Given the description of an element on the screen output the (x, y) to click on. 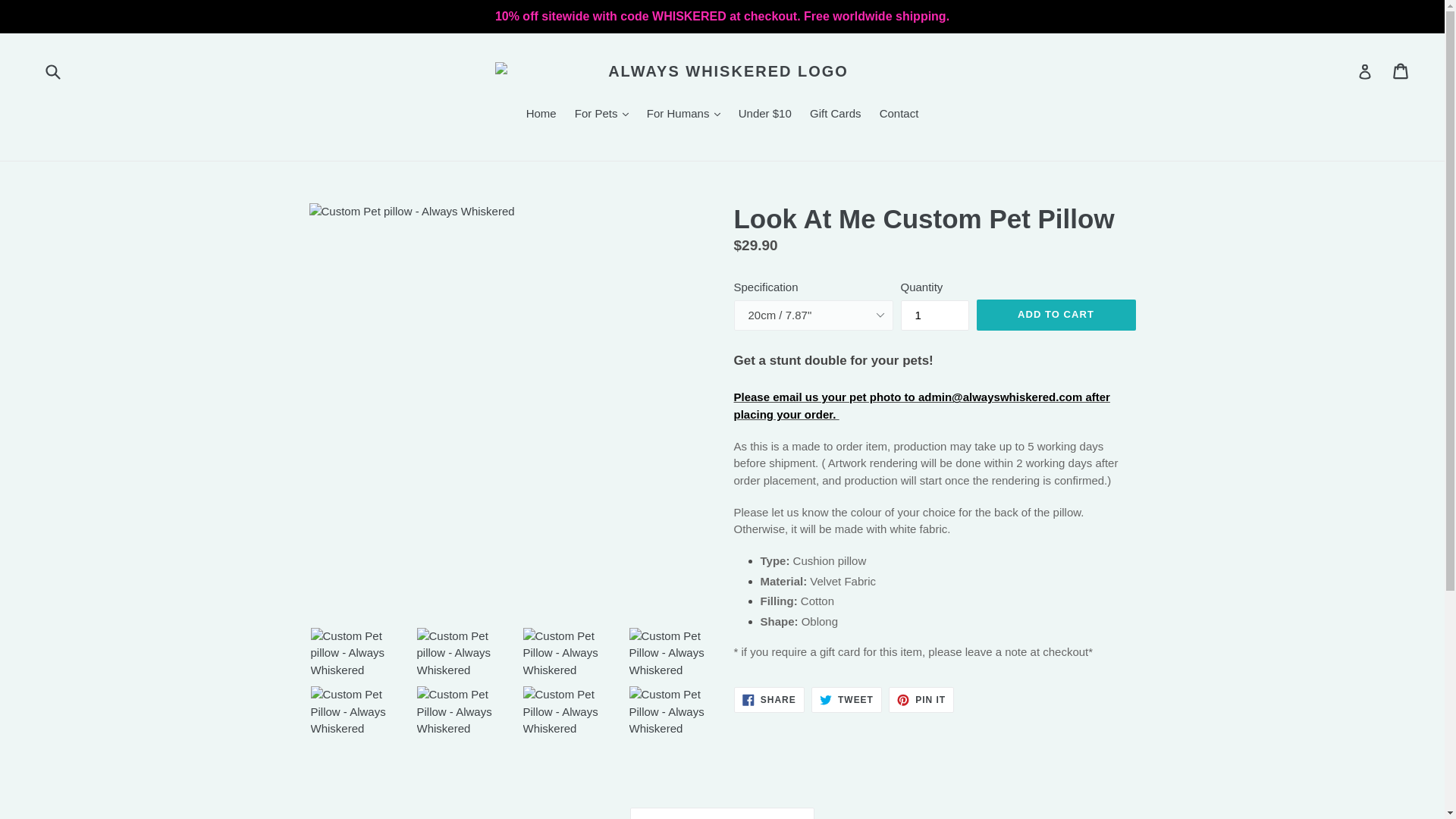
Home (541, 115)
Pin on Pinterest (920, 699)
Tweet on Twitter (846, 699)
Share on Facebook (769, 699)
1 (935, 315)
